Given the description of an element on the screen output the (x, y) to click on. 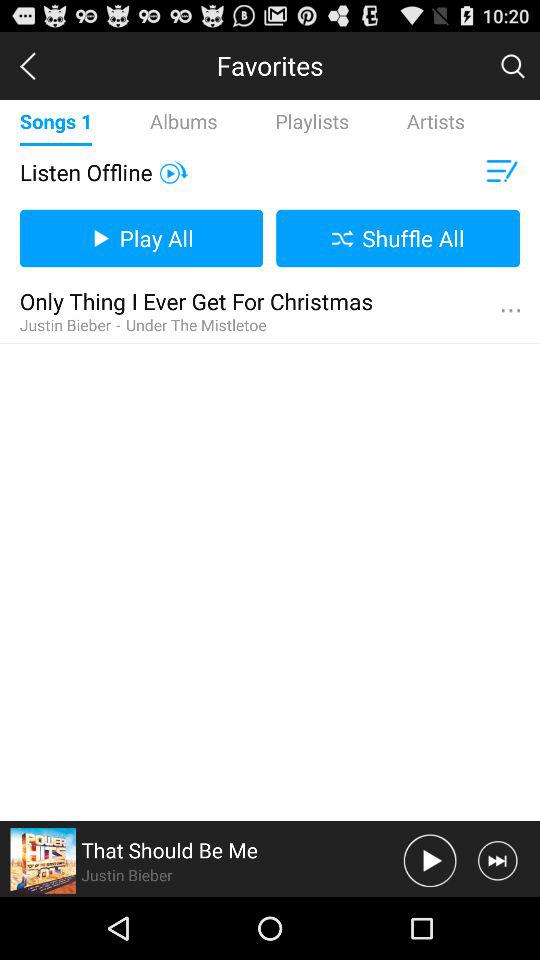
go to next (497, 860)
